Given the description of an element on the screen output the (x, y) to click on. 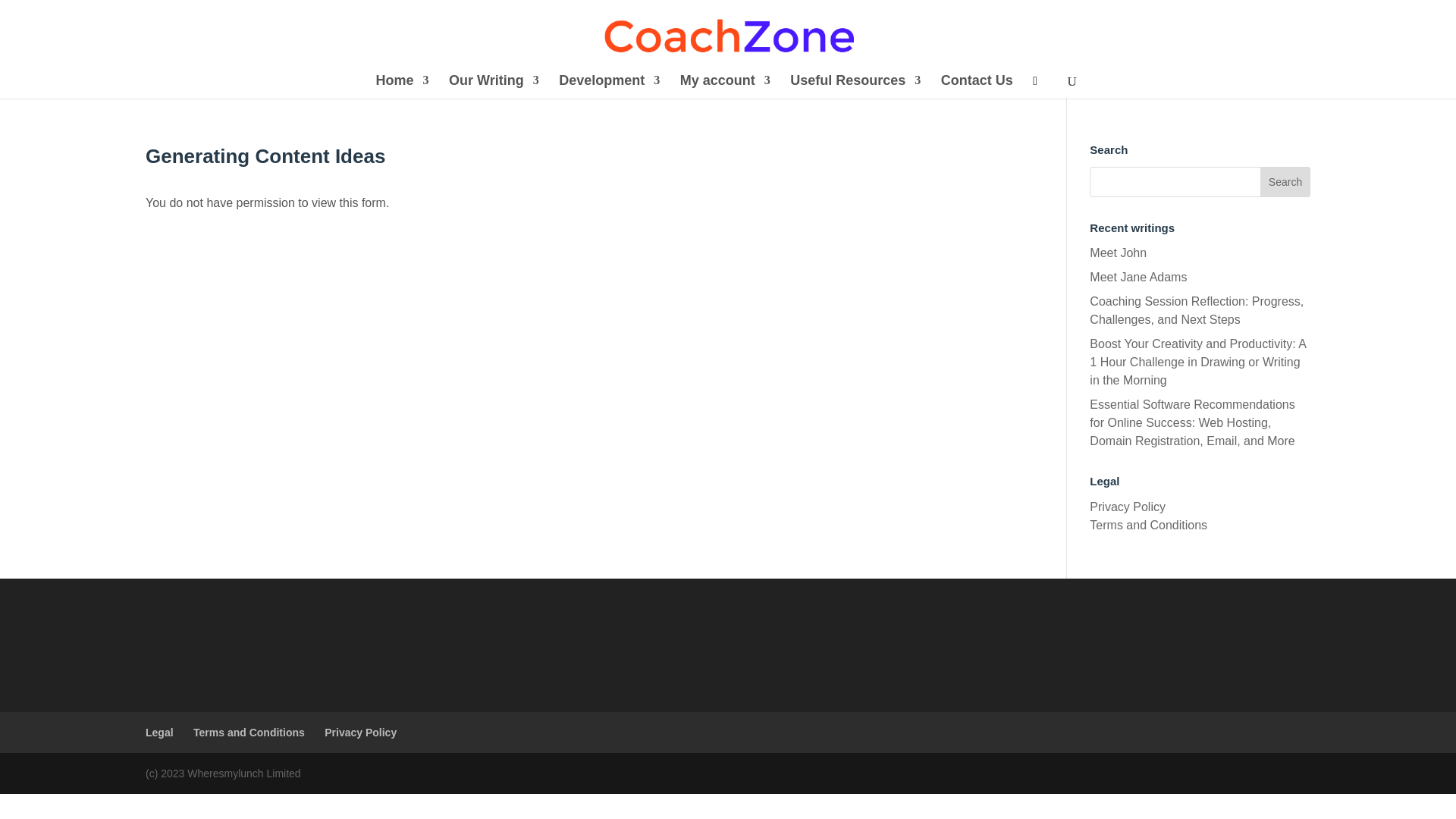
Search (1285, 182)
Terms and Conditions  (1148, 524)
Our Writing (493, 86)
My account (724, 86)
Home (402, 86)
Contact Us (976, 86)
Development (609, 86)
Privacy Policy  (1127, 506)
Useful Resources (855, 86)
